Given the description of an element on the screen output the (x, y) to click on. 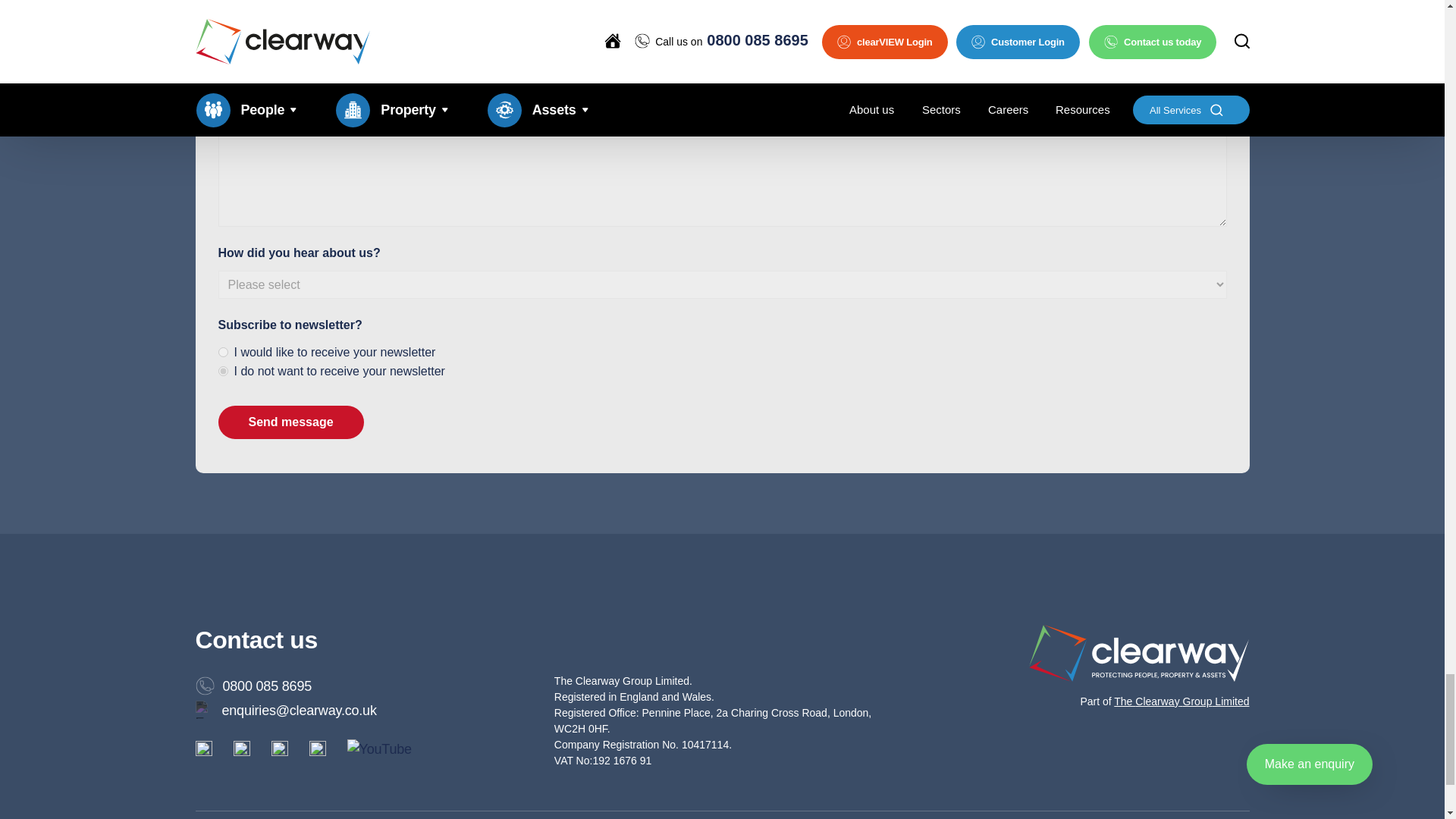
I would like to receive your newsletter (223, 352)
I do not want to receive your newsletter (223, 370)
